Given the description of an element on the screen output the (x, y) to click on. 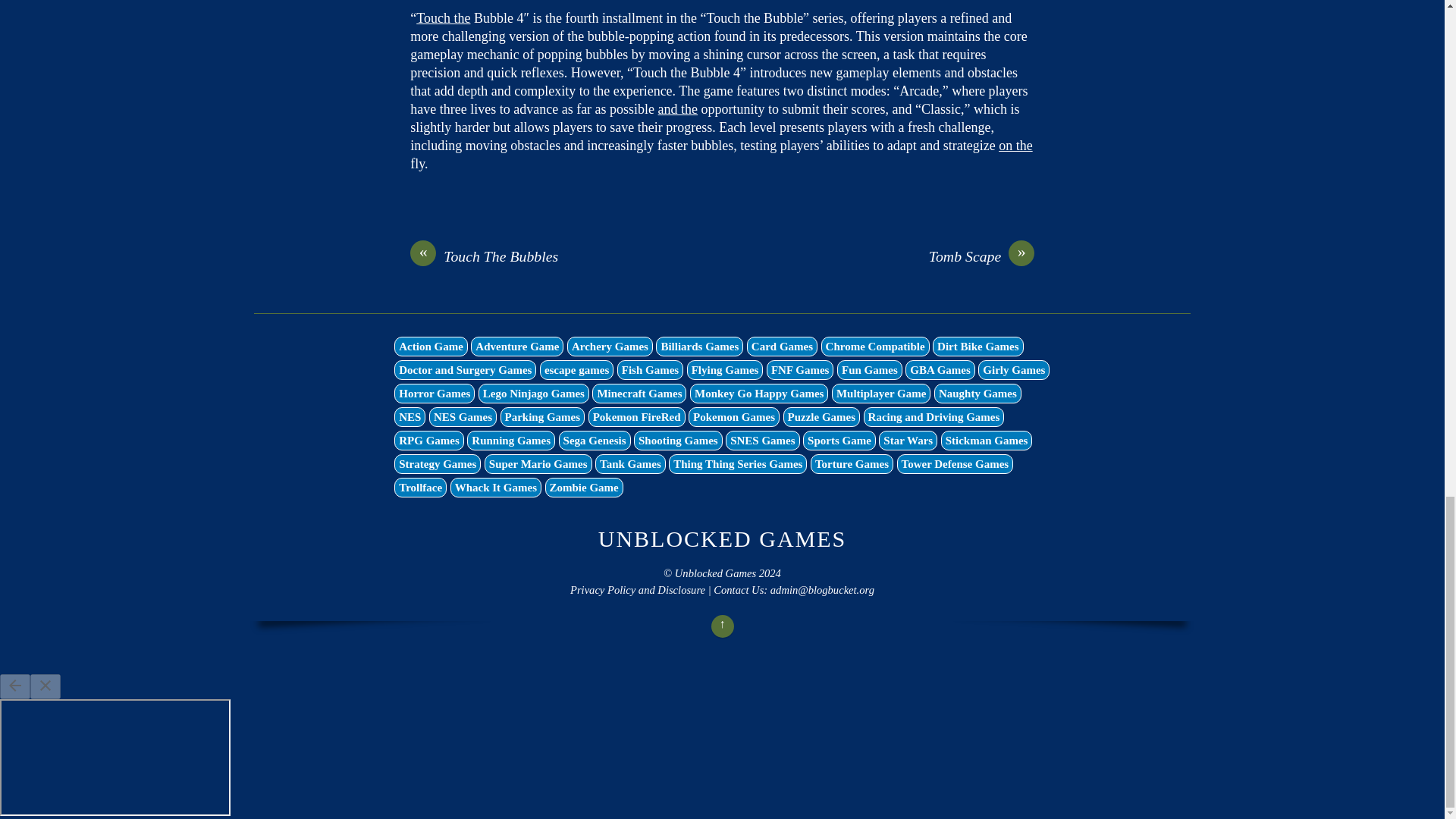
Unblocked Games (722, 538)
